Given the description of an element on the screen output the (x, y) to click on. 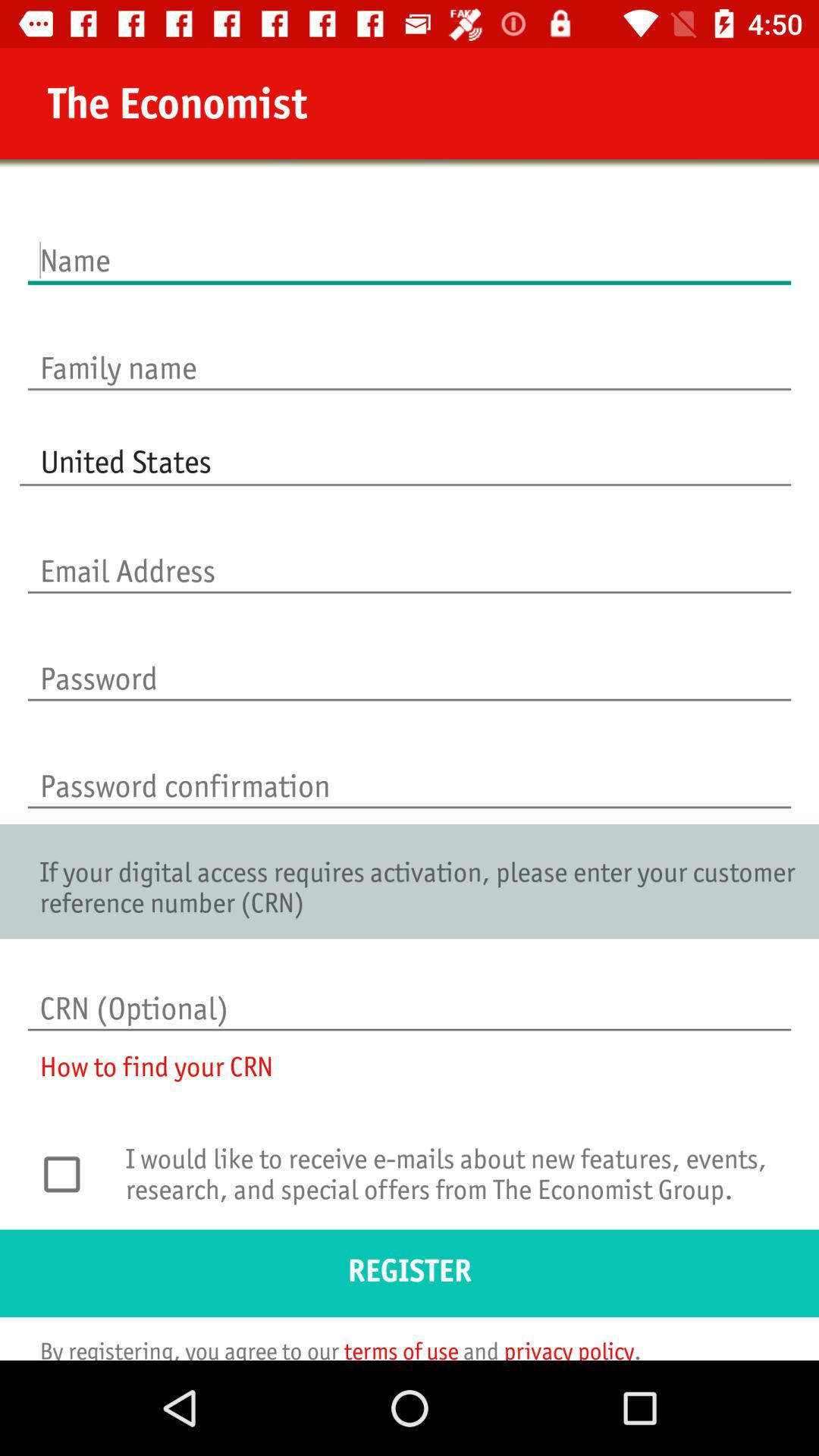
password confirmation link (409, 770)
